Given the description of an element on the screen output the (x, y) to click on. 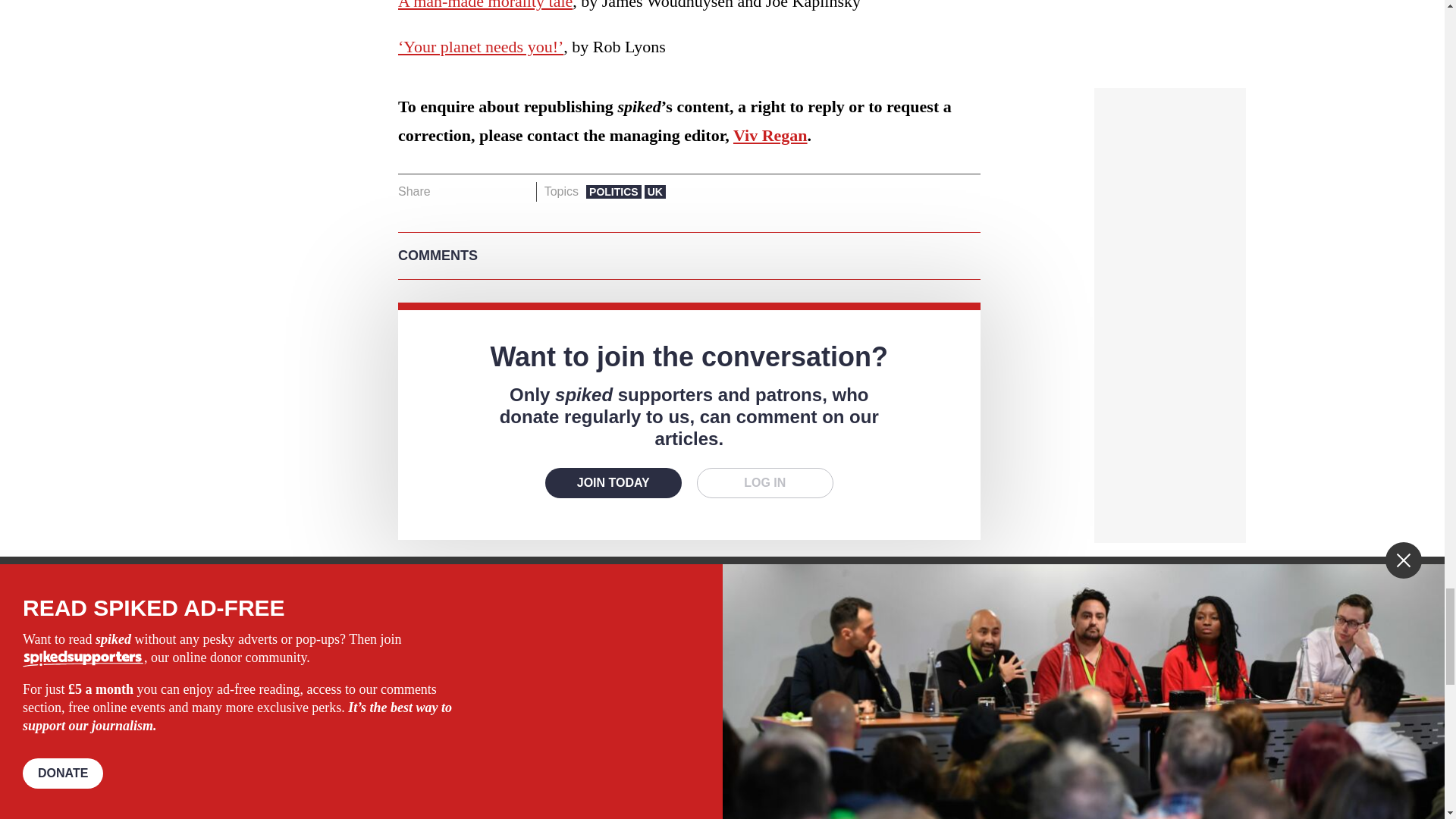
Share on Whatsapp (494, 191)
Share on Twitter (471, 191)
Share on Facebook (448, 191)
Share on Email (518, 191)
